Given the description of an element on the screen output the (x, y) to click on. 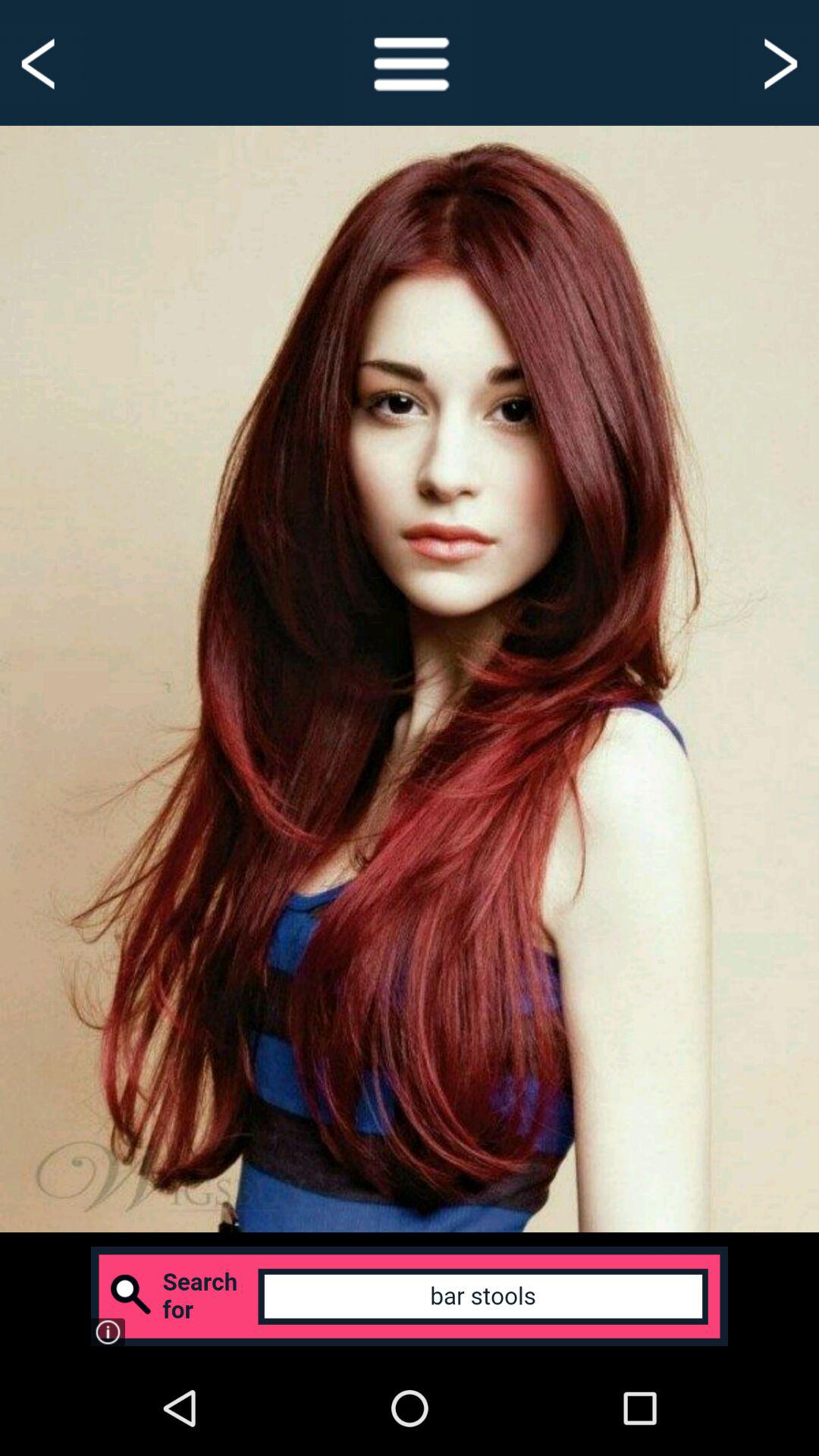
turn on item at the bottom (409, 1296)
